Given the description of an element on the screen output the (x, y) to click on. 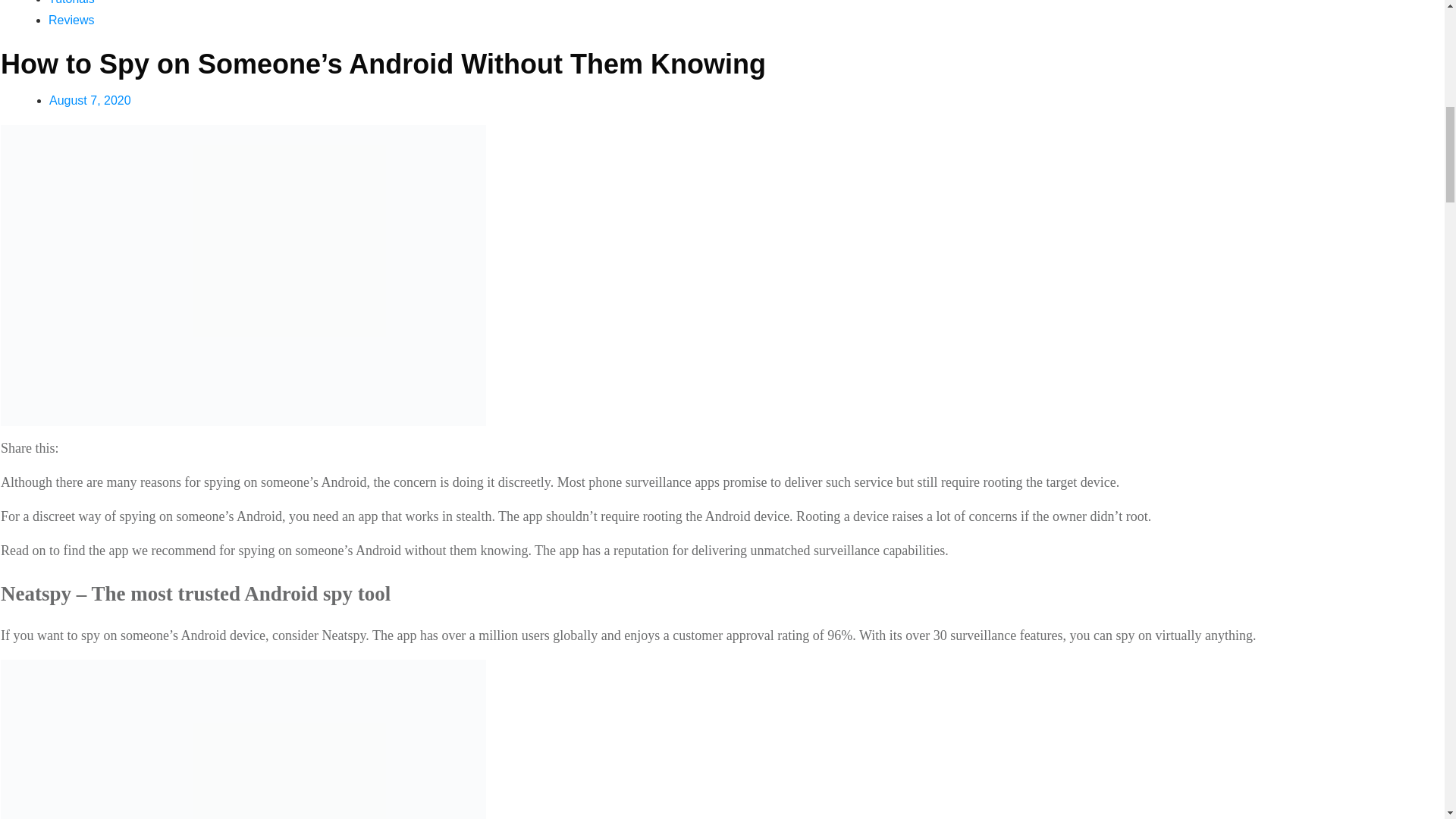
How to Spy on Someone's Android Without Them Knowing 1 (243, 739)
August 7, 2020 (90, 100)
Tutorials (71, 2)
Reviews (71, 19)
